Given the description of an element on the screen output the (x, y) to click on. 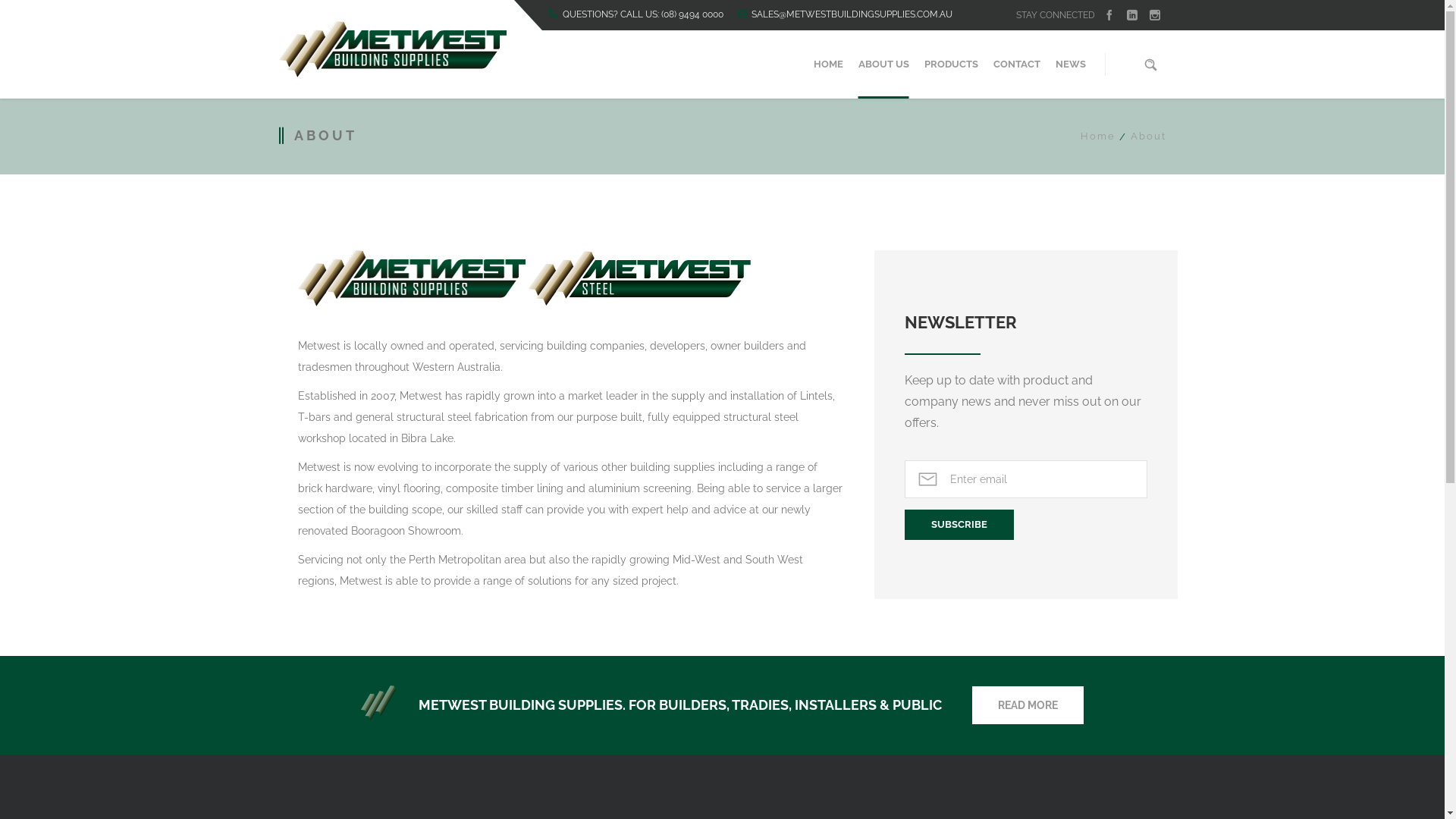
linkedin Element type: hover (1131, 15)
CONTACT Element type: text (1016, 64)
NEWS Element type: text (1070, 64)
PRODUCTS Element type: text (950, 64)
Home Element type: text (1096, 135)
instagram Element type: hover (1154, 15)
HOME Element type: text (827, 64)
Subscribe Element type: text (958, 524)
facebook Element type: hover (1109, 15)
READ MORE Element type: text (1027, 705)
Metwest Building Supplies Element type: hover (392, 49)
ABOUT US Element type: text (883, 64)
